Given the description of an element on the screen output the (x, y) to click on. 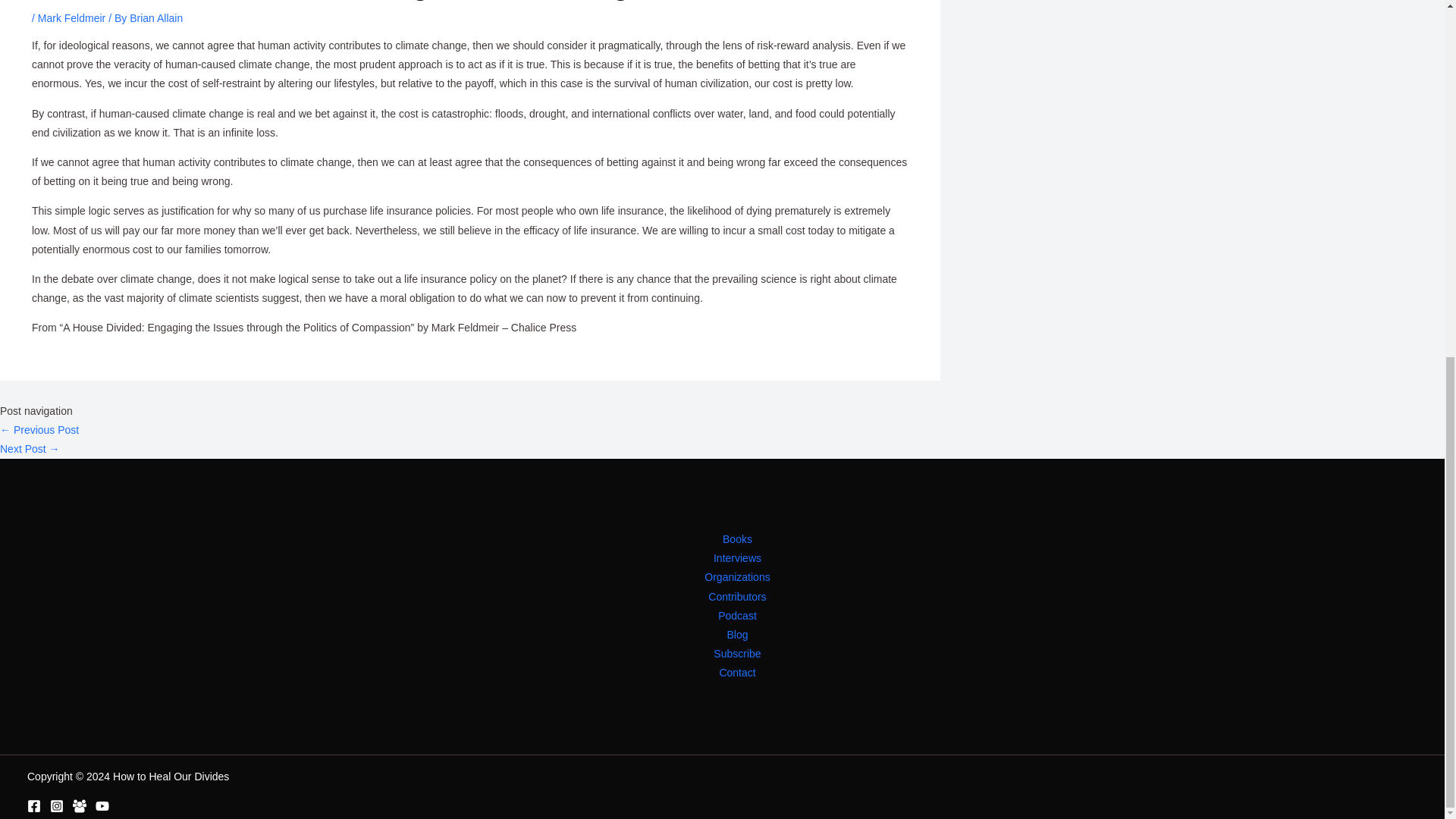
Contributors (736, 597)
Interviews (737, 558)
View all posts by Brian Allain (156, 18)
Subscribe (736, 653)
Facebook Group (78, 808)
Mark Feldmeir (70, 18)
Organizations (737, 577)
Books (737, 538)
Blog (737, 634)
Facebook Group (78, 806)
Contact (737, 672)
Brian Allain (156, 18)
Podcast (737, 615)
